Given the description of an element on the screen output the (x, y) to click on. 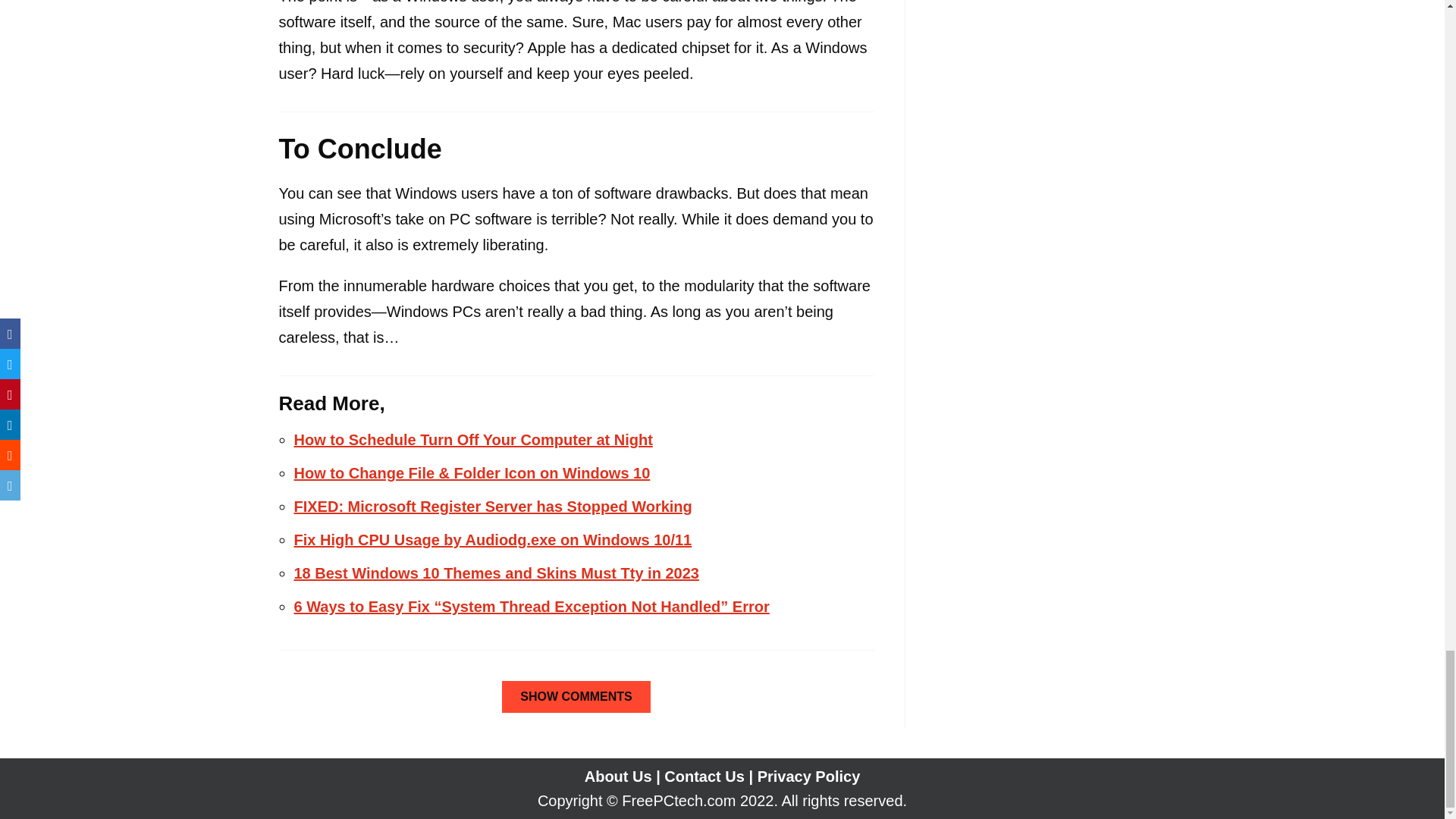
How to Schedule Turn Off Your Computer at Night (473, 439)
FIXED: Microsoft Register Server has Stopped Working (493, 506)
18 Best Windows 10 Themes and Skins Must Tty in 2023 (496, 573)
